Given the description of an element on the screen output the (x, y) to click on. 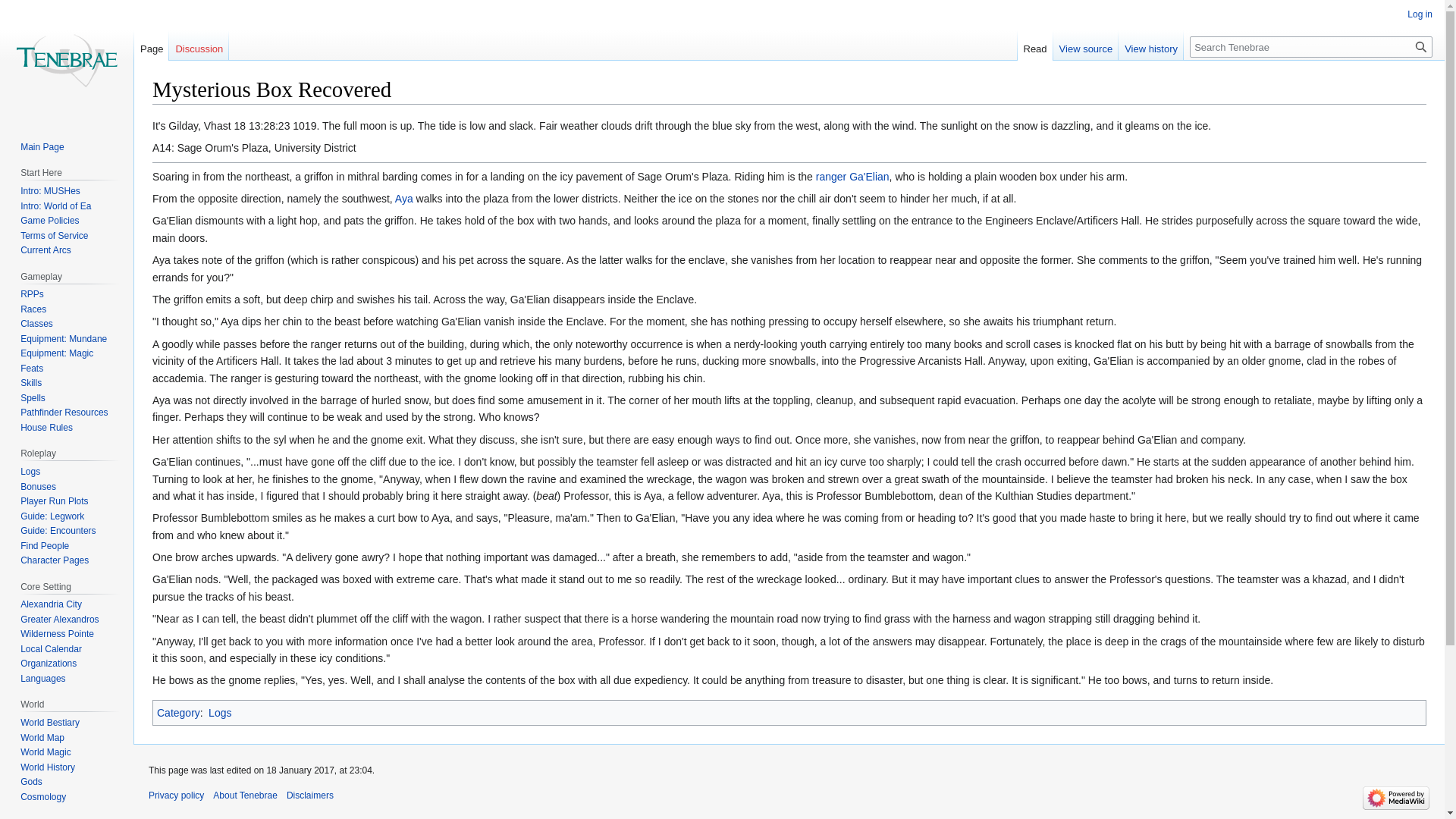
Spells (32, 398)
Find People (44, 545)
View history (1150, 45)
Aya (403, 198)
Logs (30, 471)
Pathfinder Resources (63, 412)
Skills (31, 382)
Feats (31, 368)
Read (1034, 45)
